Given the description of an element on the screen output the (x, y) to click on. 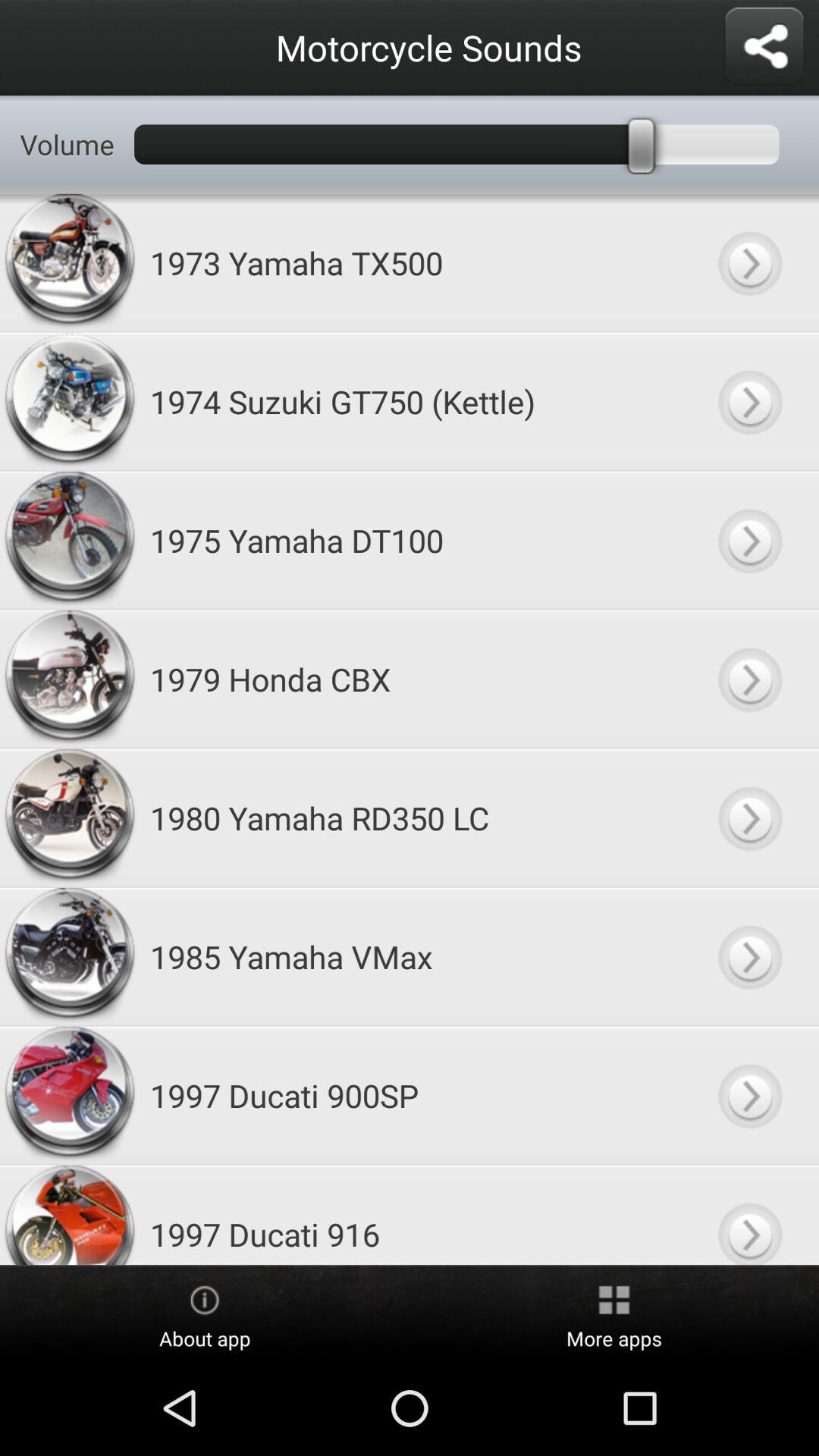
play this sound (749, 956)
